Given the description of an element on the screen output the (x, y) to click on. 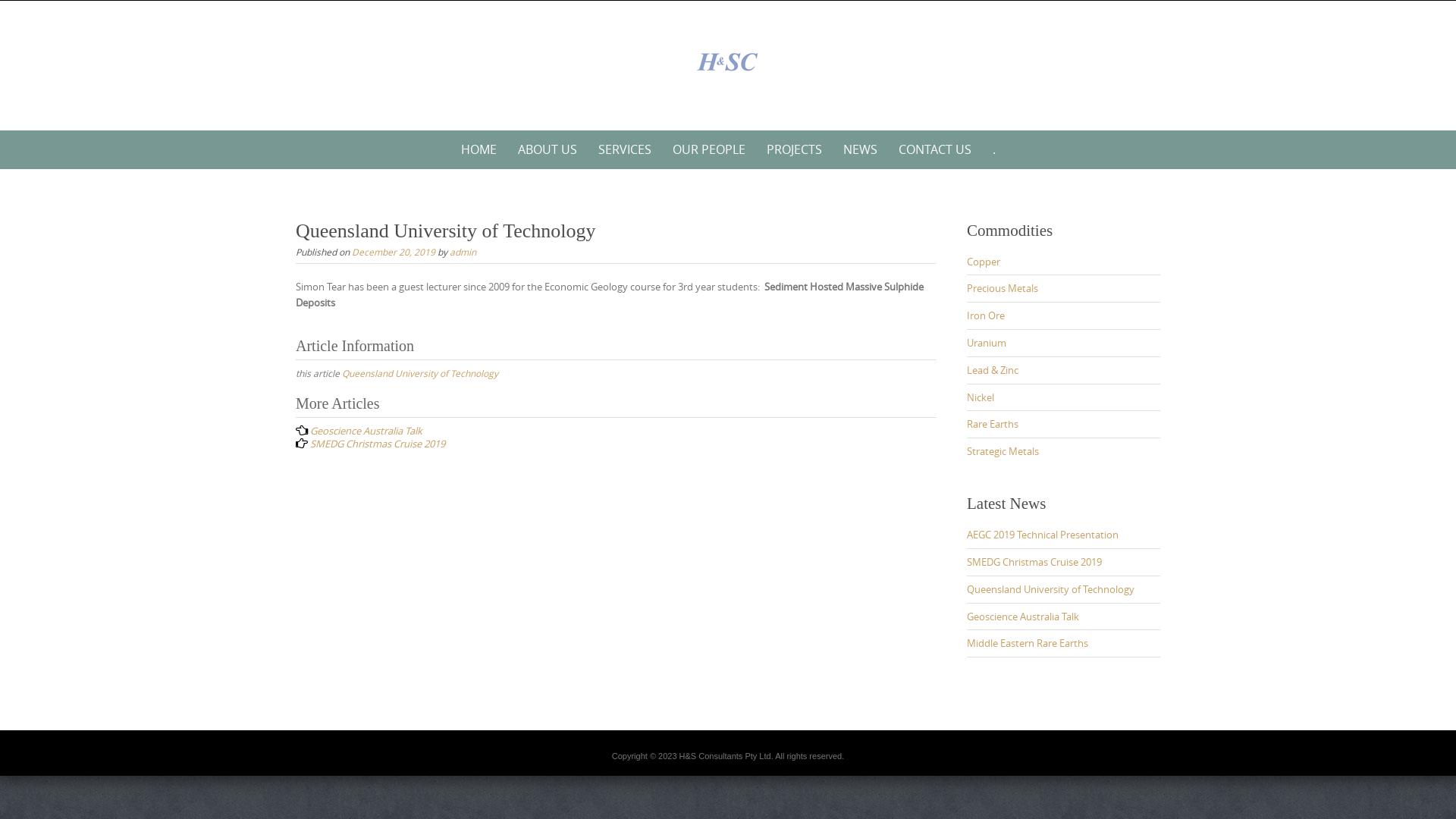
Middle Eastern Rare Earths Element type: text (1027, 642)
Strategic Metals Element type: text (1002, 451)
Skip to content Element type: text (279, 129)
Iron Ore Element type: text (985, 315)
SMEDG Christmas Cruise 2019 Element type: text (377, 443)
Queensland University of Technology Element type: text (1050, 589)
Geoscience Australia Talk Element type: text (366, 430)
Uranium Element type: text (986, 342)
Precious Metals Element type: text (1002, 287)
PROJECTS Element type: text (793, 149)
. Element type: text (993, 149)
SMEDG Christmas Cruise 2019 Element type: text (1033, 561)
December 20, 2019 Element type: text (393, 251)
SERVICES Element type: text (623, 149)
admin Element type: text (462, 251)
OUR PEOPLE Element type: text (707, 149)
Copper Element type: text (983, 261)
Nickel Element type: text (980, 397)
Rare Earths Element type: text (992, 423)
CONTACT US Element type: text (933, 149)
AEGC 2019 Technical Presentation Element type: text (1042, 534)
ABOUT US Element type: text (546, 149)
H&SC Resource Specialists to the Minerals Industry Element type: hover (727, 62)
NEWS Element type: text (860, 149)
Queensland University of Technology Element type: text (420, 373)
Geoscience Australia Talk Element type: text (1022, 616)
HOME Element type: text (478, 149)
Lead & Zinc Element type: text (992, 369)
